Given the description of an element on the screen output the (x, y) to click on. 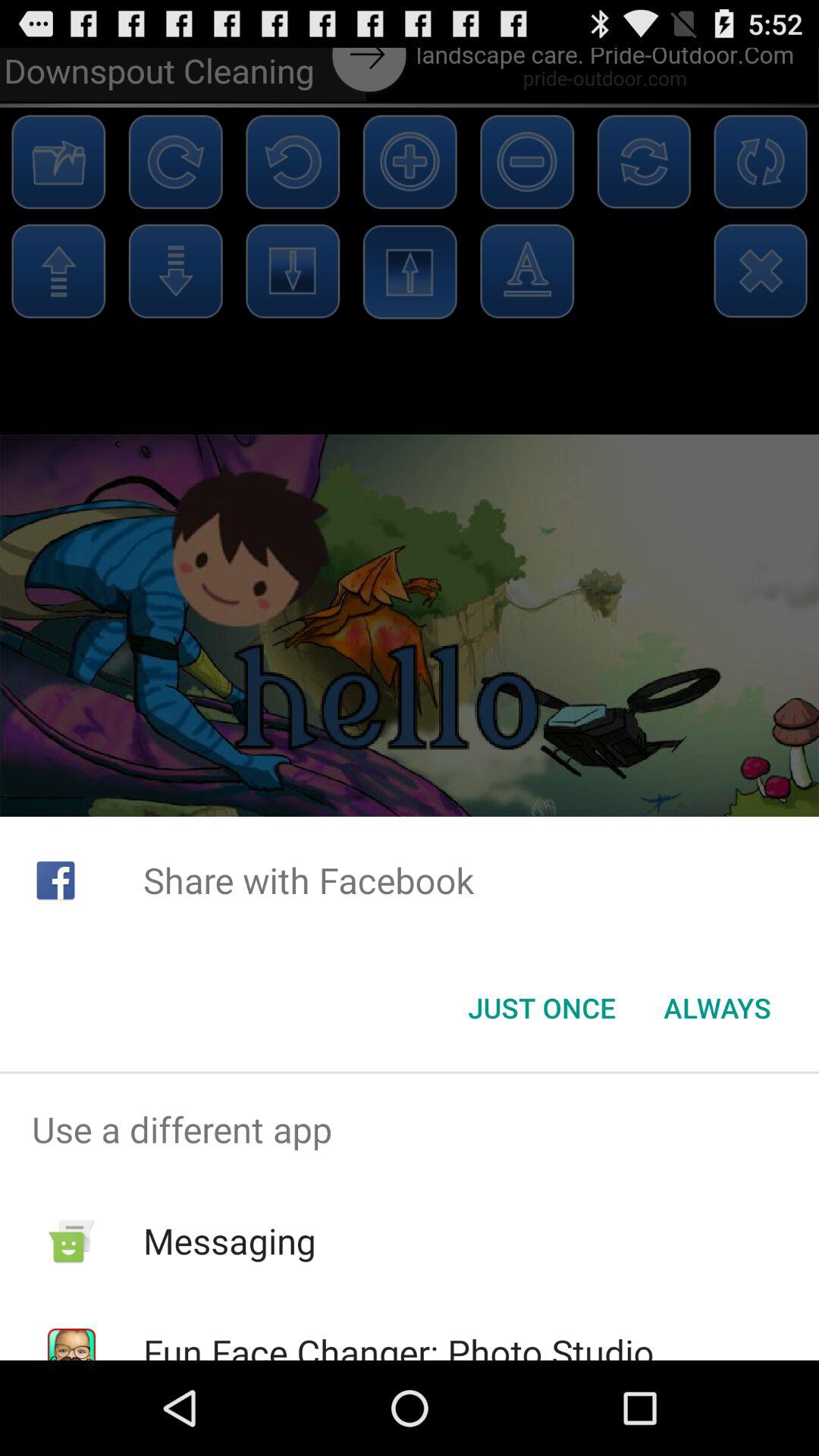
scroll to use a different icon (409, 1129)
